Given the description of an element on the screen output the (x, y) to click on. 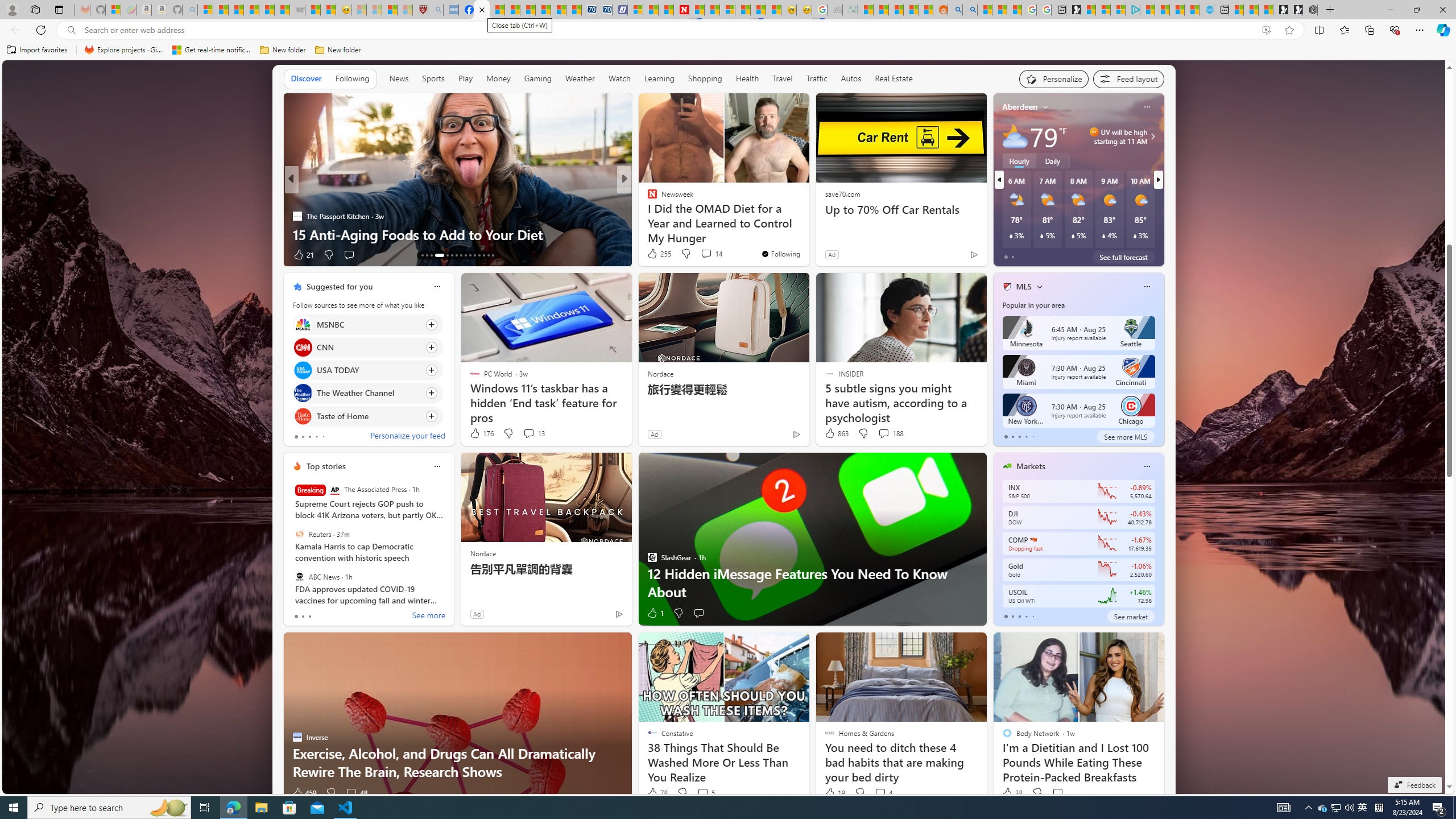
99 Like (652, 254)
14 Like (652, 254)
ABC News (299, 576)
XDA Developers (647, 197)
Personalize your feed (407, 436)
previous (998, 179)
Shopping (705, 79)
UV will be high starting at 11 AM (1150, 136)
